Given the description of an element on the screen output the (x, y) to click on. 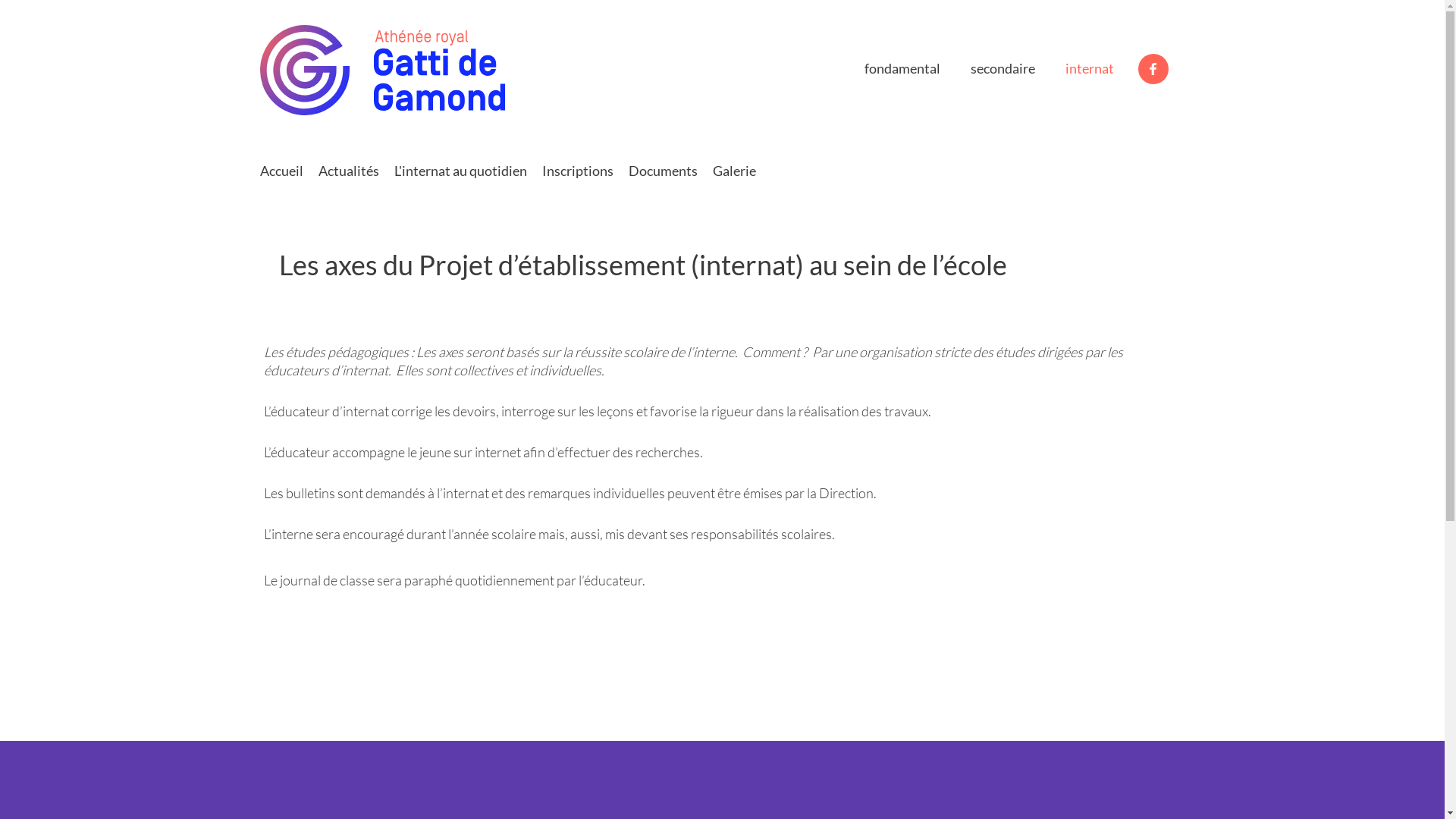
Suivi Interne Element type: text (323, 20)
Accueil Element type: text (277, 178)
Documents Element type: text (658, 178)
Galerie Element type: text (731, 178)
Inscriptions Element type: text (573, 178)
fondamental Element type: text (902, 70)
L'internat au quotidien Element type: text (457, 176)
internat Element type: text (1089, 70)
secondaire Element type: text (1002, 70)
